Given the description of an element on the screen output the (x, y) to click on. 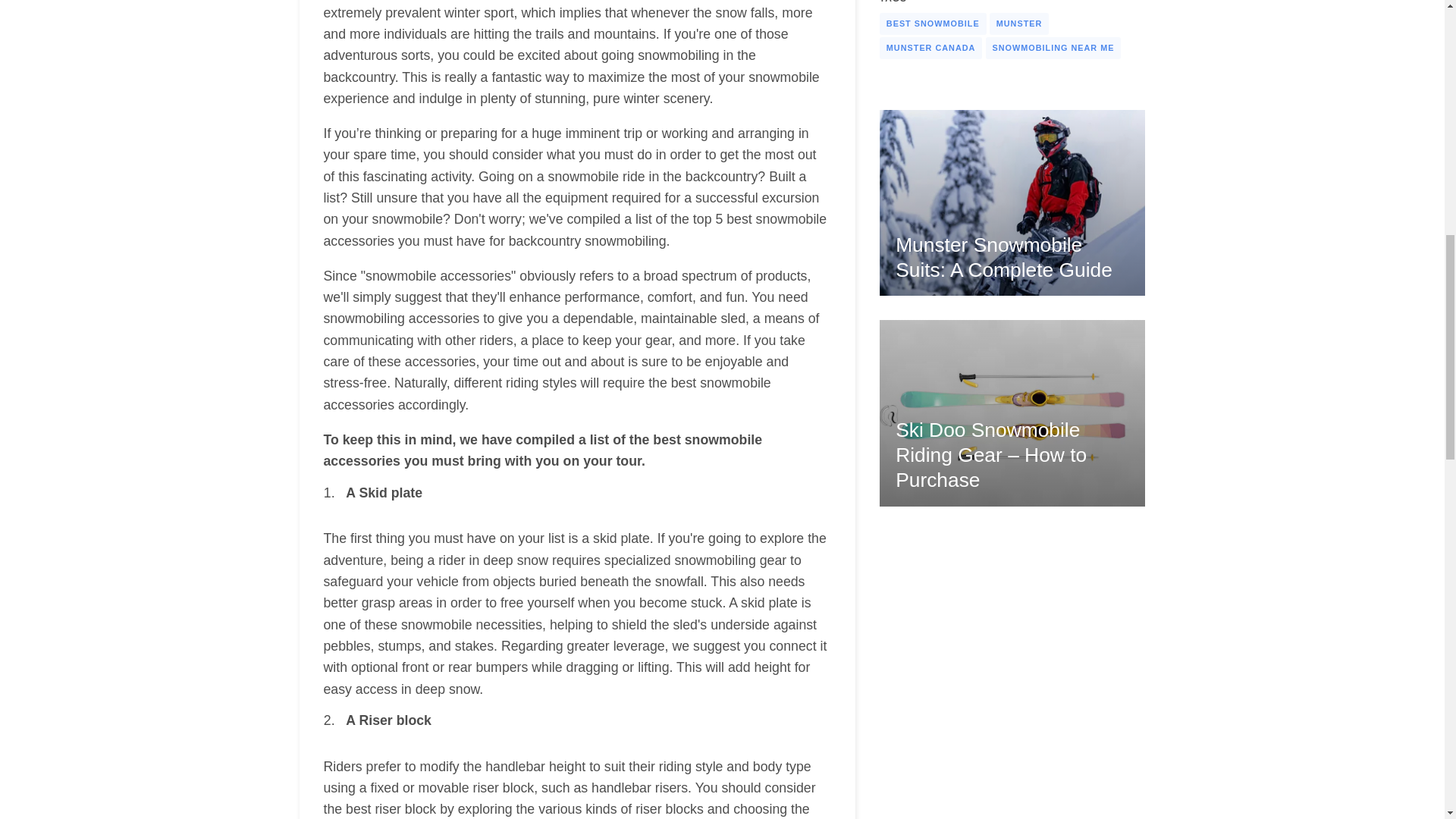
BEST SNOWMOBILE (933, 24)
best snowmobile accessories (546, 393)
MUNSTER (1019, 24)
